Given the description of an element on the screen output the (x, y) to click on. 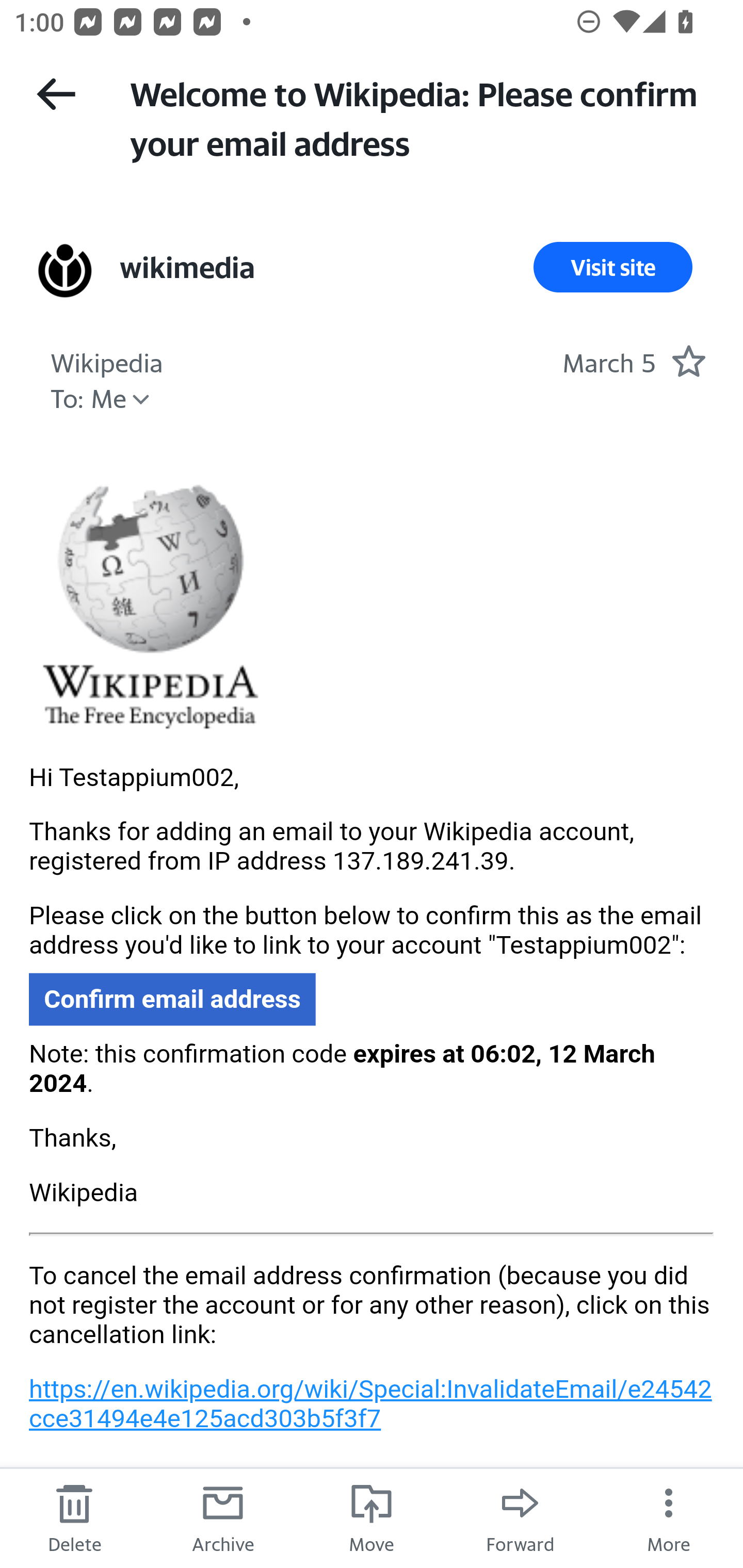
Back (55, 93)
View all messages from sender (64, 270)
Visit site Visit Site Link (612, 267)
wikimedia Sender wikimedia (186, 266)
Wikipedia Sender Wikipedia (106, 360)
Mark as starred. (688, 361)
Confirm email address (172, 999)
Delete (74, 1517)
Archive (222, 1517)
Move (371, 1517)
Forward (519, 1517)
More (668, 1517)
